Given the description of an element on the screen output the (x, y) to click on. 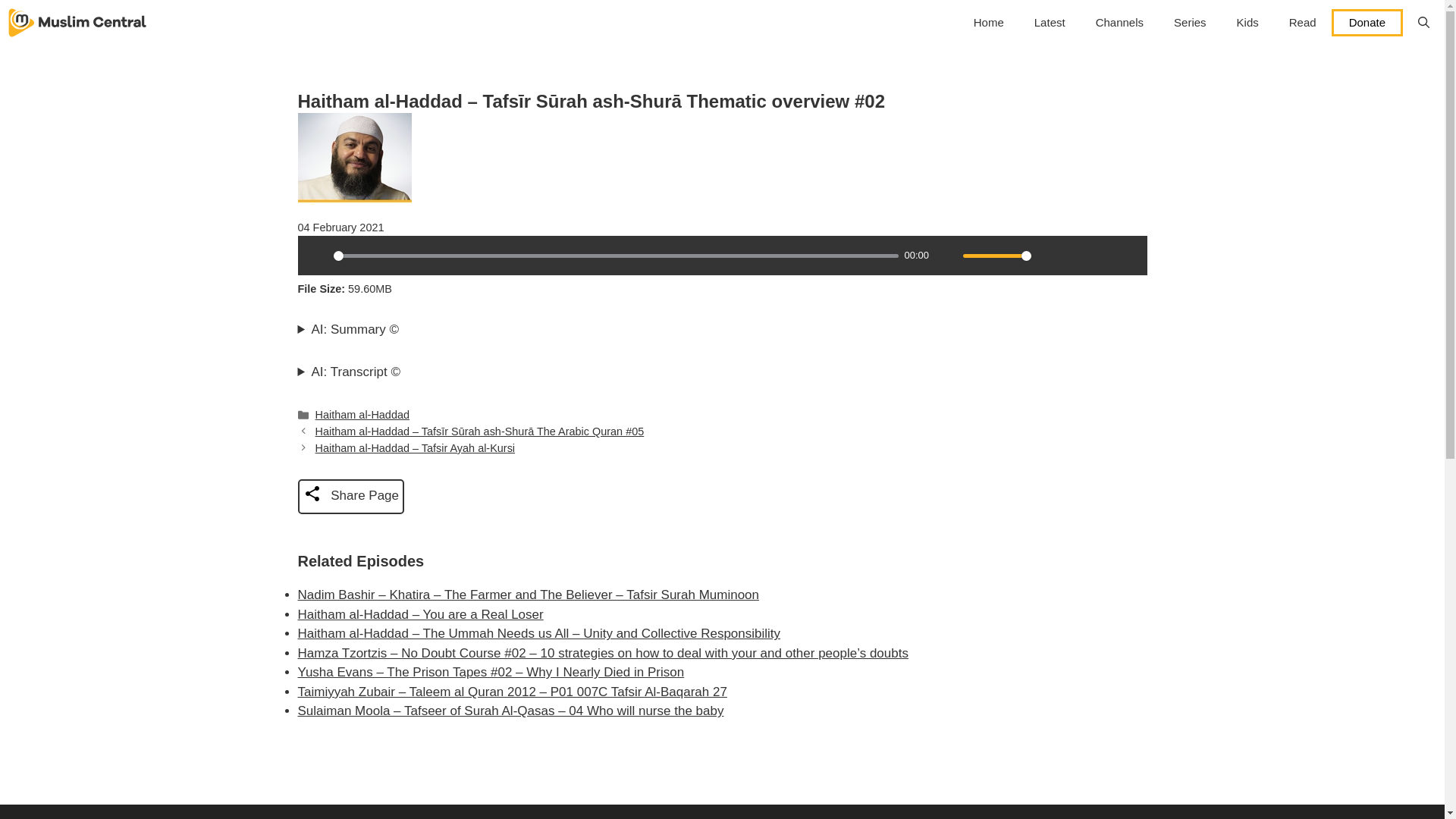
Download (1074, 255)
Forward 10s (1126, 255)
Kids (1247, 22)
1 (996, 255)
Play (316, 255)
Mute (946, 255)
Read (1303, 22)
Channels (1119, 22)
0 (615, 255)
Muslim Central (77, 22)
